Given the description of an element on the screen output the (x, y) to click on. 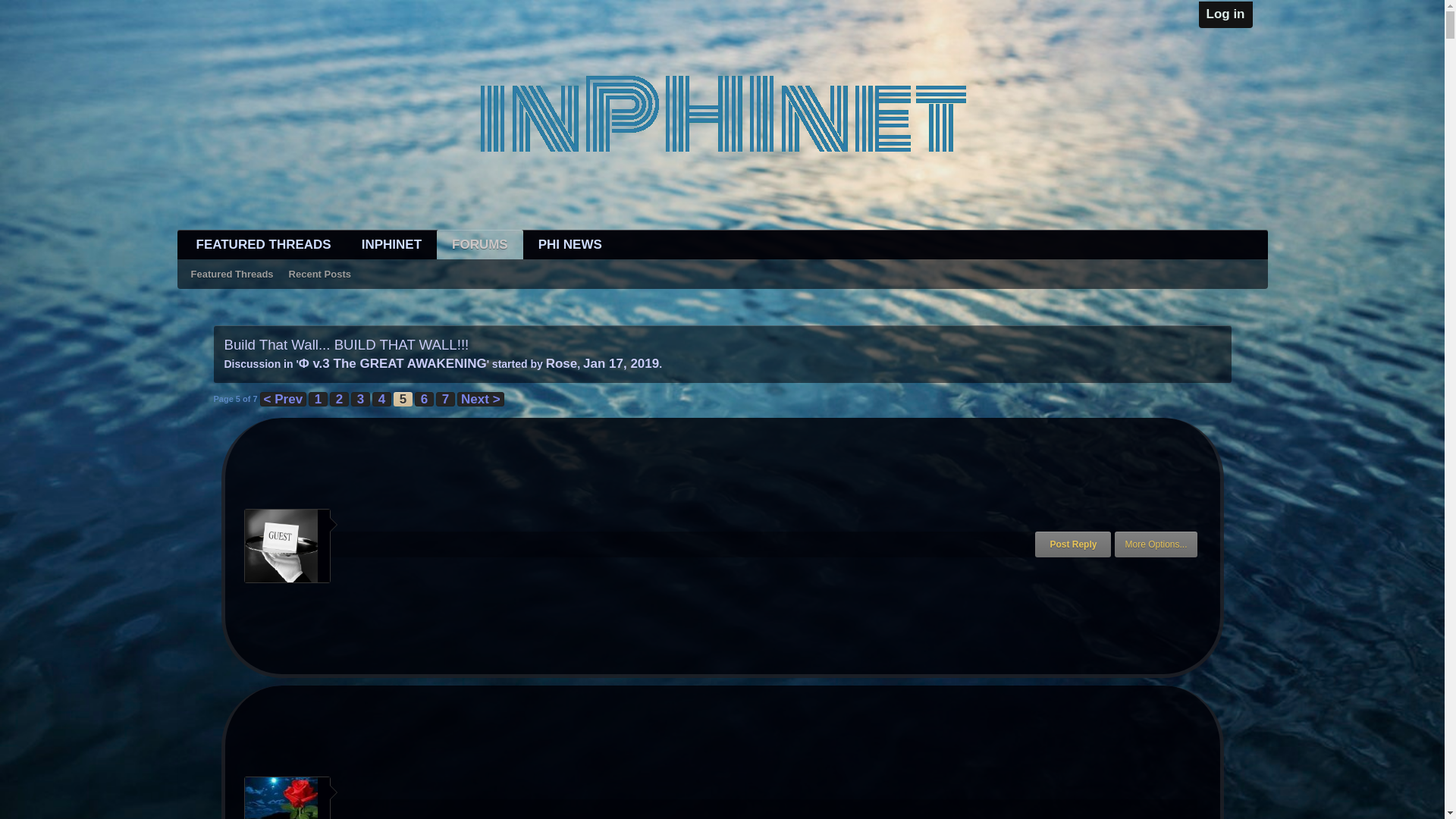
5 (402, 399)
FEATURED THREADS (263, 244)
Rose (562, 363)
Featured Threads (232, 273)
More Options... (1155, 544)
FORUMS (479, 244)
Recent Posts (319, 273)
7 (444, 399)
4 (381, 399)
3 (359, 399)
Jan 17, 2019 at 5:43 PM (621, 363)
Log in (1225, 13)
Post Reply (1072, 544)
1 (317, 399)
Jan 17, 2019 (621, 363)
